Given the description of an element on the screen output the (x, y) to click on. 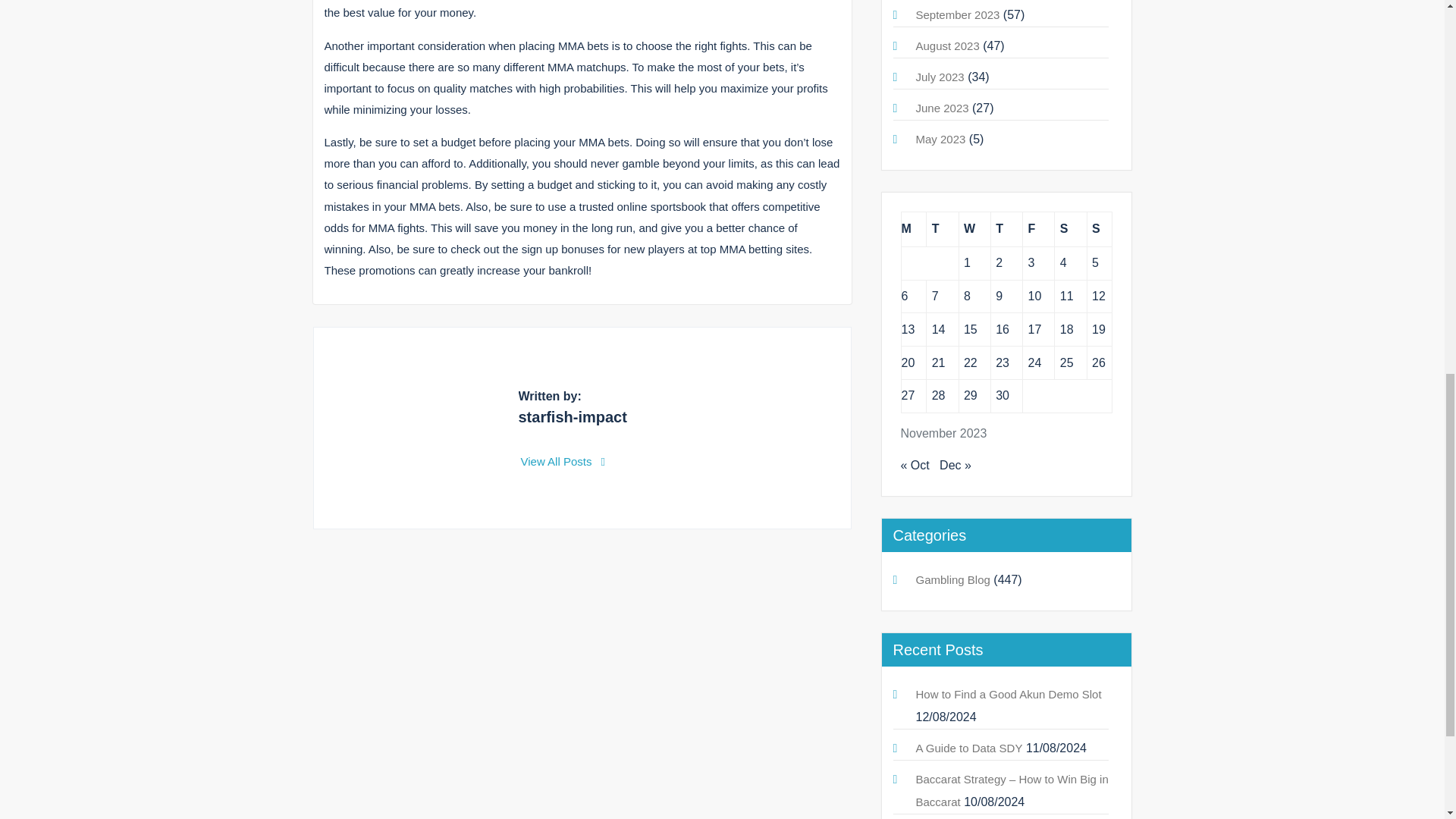
View All Posts (562, 461)
Tuesday (942, 229)
June 2023 (942, 107)
August 2023 (947, 45)
12 (1098, 295)
May 2023 (940, 138)
11 (1066, 295)
July 2023 (939, 76)
14 (937, 328)
September 2023 (957, 14)
